Given the description of an element on the screen output the (x, y) to click on. 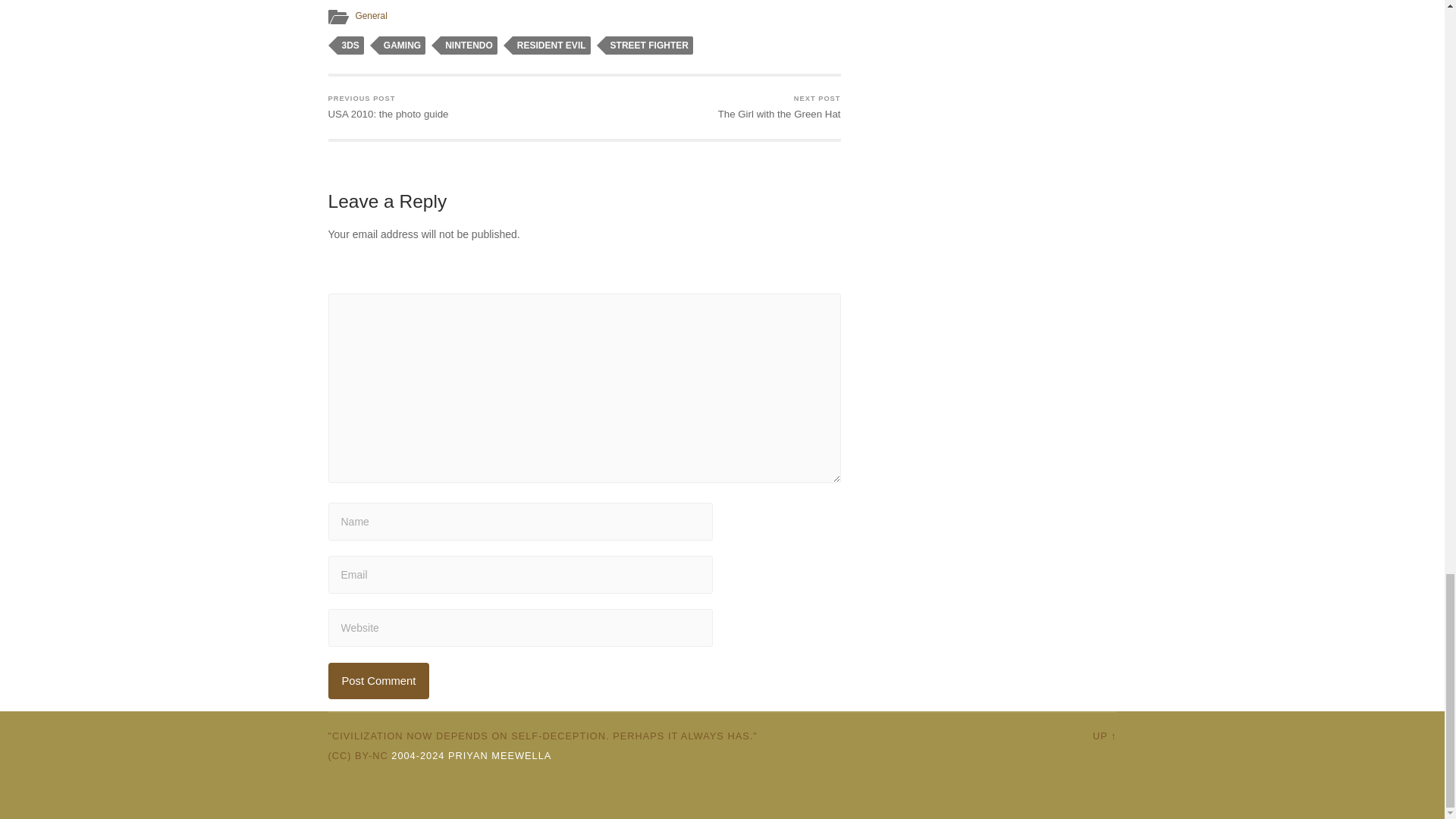
Ted Chiang, What's expected of us (542, 736)
Post Comment (378, 680)
Next post: The Girl with the Green Hat (779, 107)
To the top (1104, 736)
Previous post: USA 2010: the photo guide (387, 107)
